Given the description of an element on the screen output the (x, y) to click on. 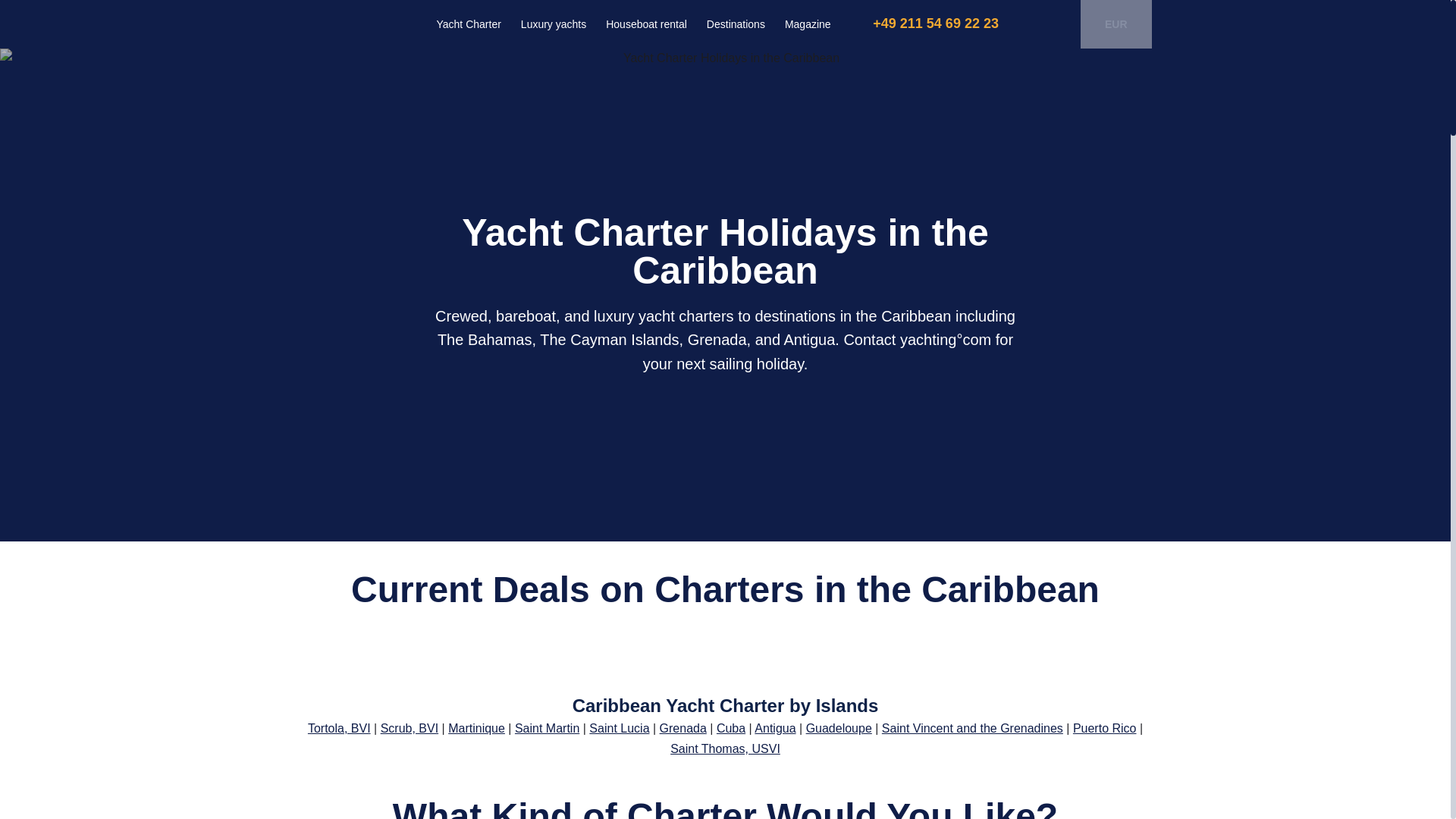
Tortola, BVI (339, 727)
Grenada (682, 727)
Scrub, BVI (409, 727)
Cuba (730, 727)
Luxury yachts (553, 24)
Yachting.com logo home link (347, 22)
Yacht Charter (468, 24)
Houseboat rental (646, 24)
EUR (1103, 24)
Puerto Rico (1105, 727)
Saint Lucia (619, 727)
Destinations (735, 24)
Saint Martin (547, 727)
Martinique (476, 727)
Magazine (807, 24)
